Given the description of an element on the screen output the (x, y) to click on. 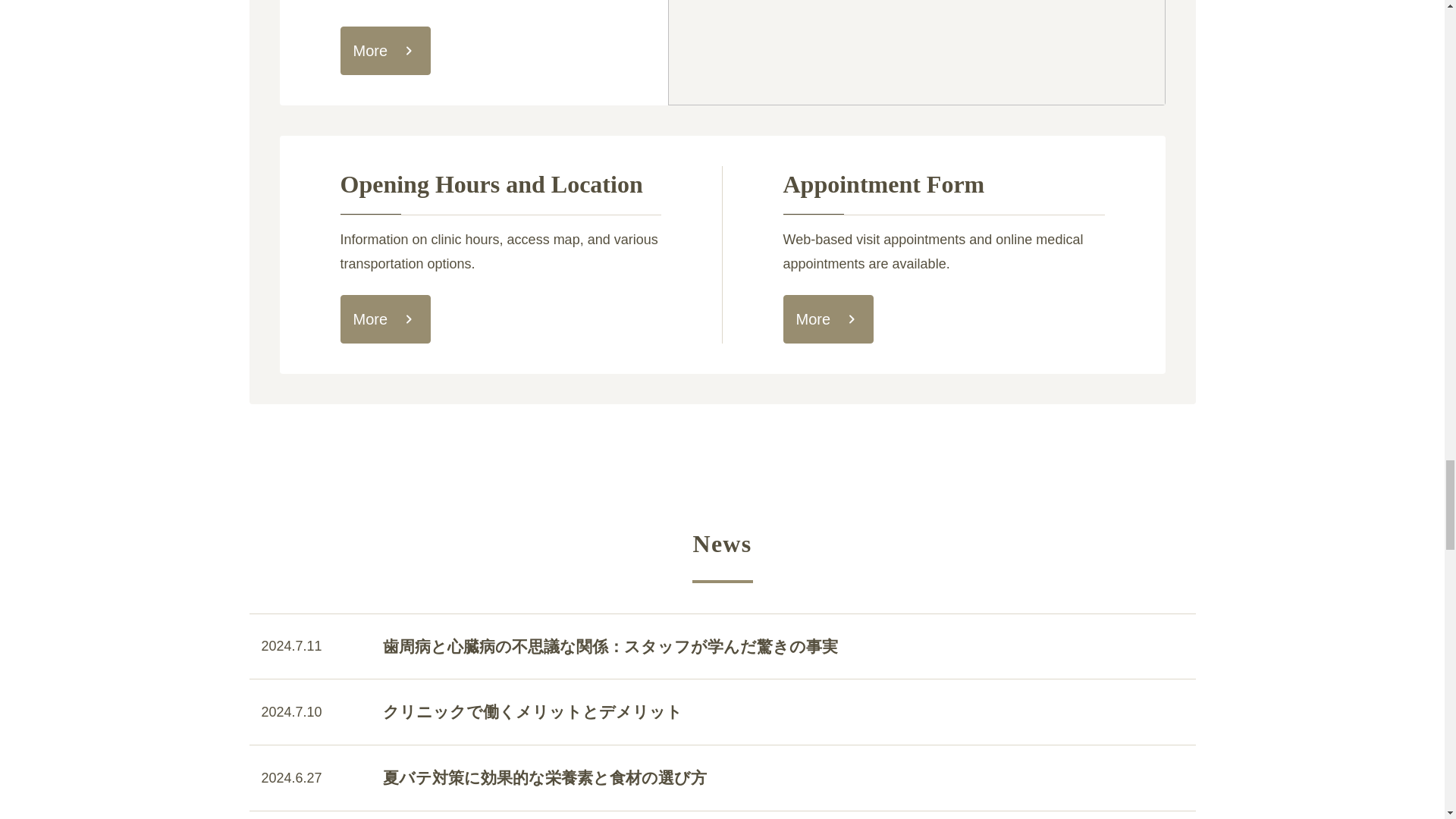
More (384, 318)
More (828, 318)
More (384, 50)
